Given the description of an element on the screen output the (x, y) to click on. 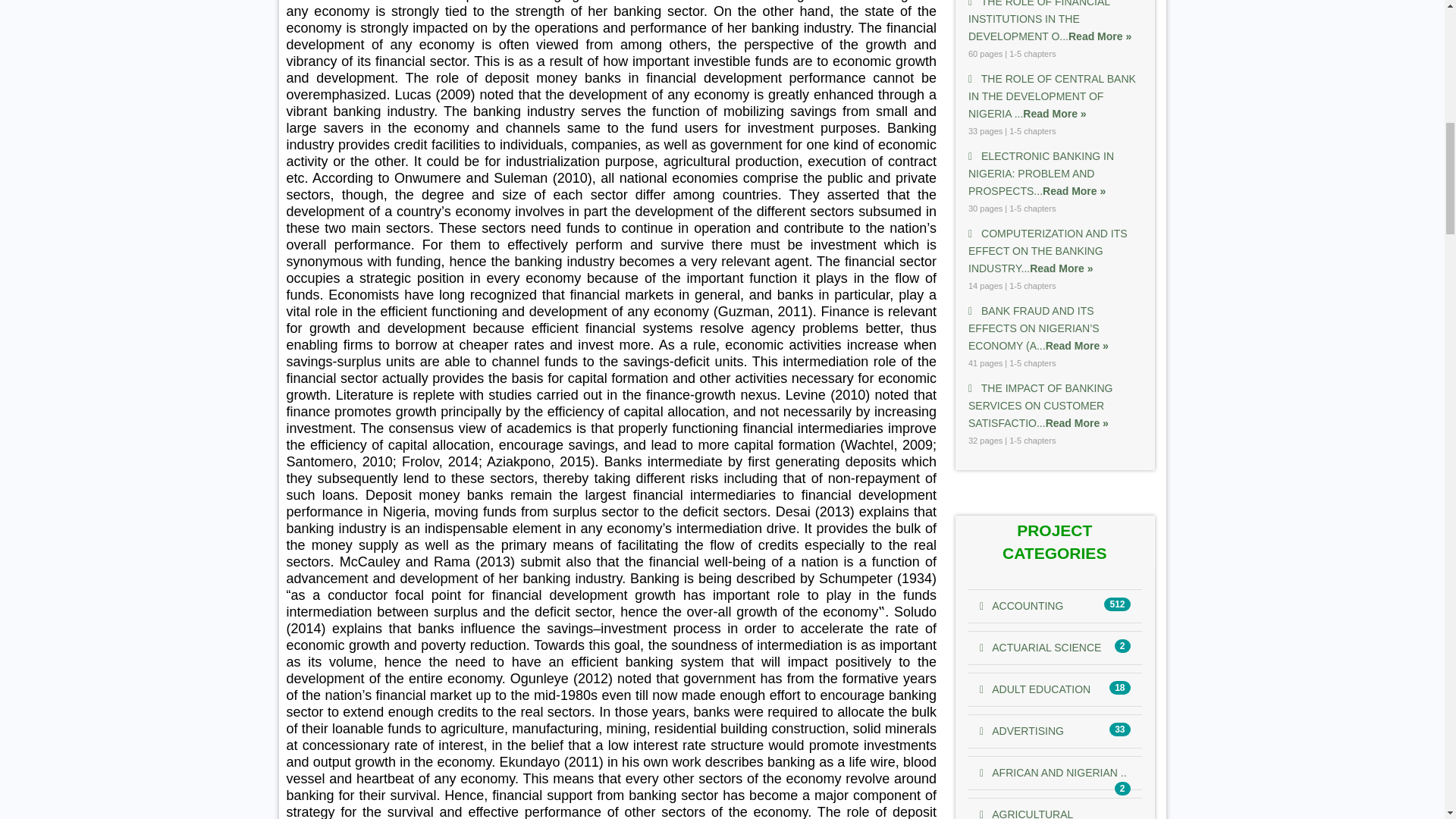
ACCOUNTING PROJECT TOPICS AND RESEARCH MATERIALS (1020, 605)
AGRICULTURAL ECONOMICS PROJECT TOPICS AND RESEARCH MATERIALS (1026, 813)
ACTUARIAL SCIENCE PROJECT TOPICS AND RESEARCH MATERIALS (1039, 647)
ADVERTISING PROJECT TOPICS AND RESEARCH MATERIALS (1021, 730)
ADULT EDUCATION PROJECT TOPICS AND RESEARCH MATERIALS (1034, 689)
